Given the description of an element on the screen output the (x, y) to click on. 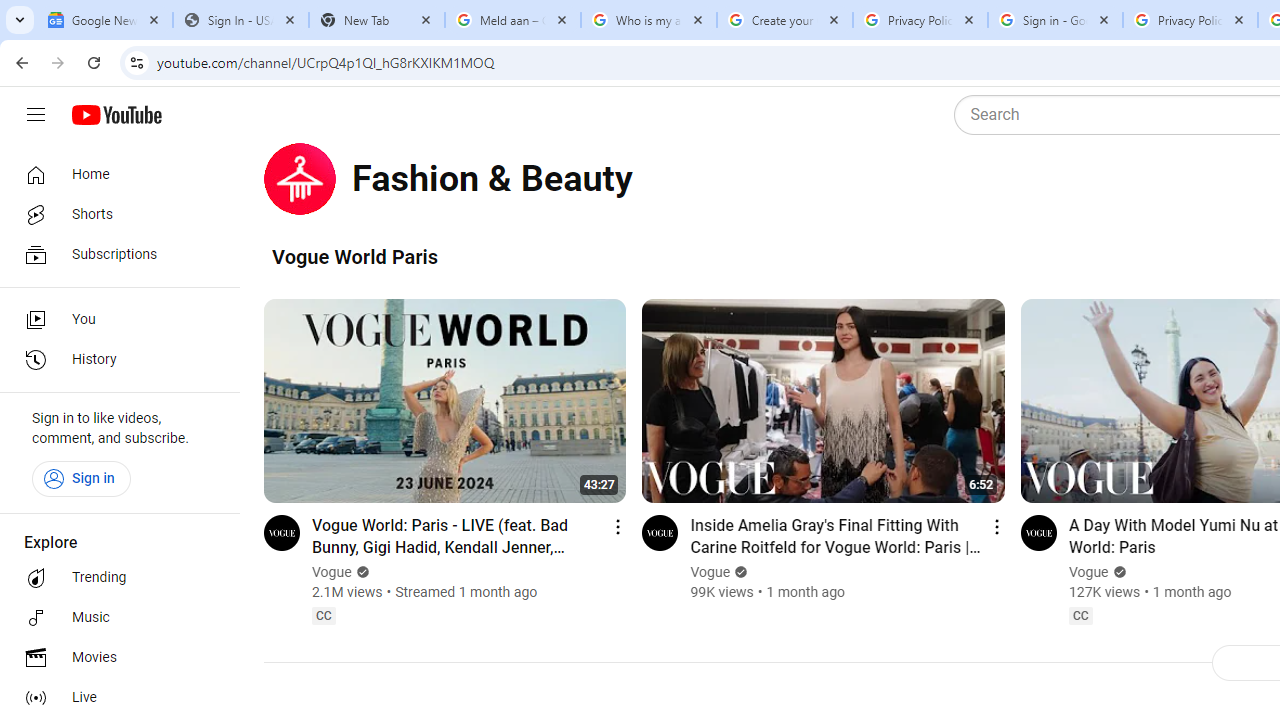
Closed captions (1080, 615)
Guide (35, 115)
Live (113, 697)
New Tab (376, 20)
Subscriptions (113, 254)
